Given the description of an element on the screen output the (x, y) to click on. 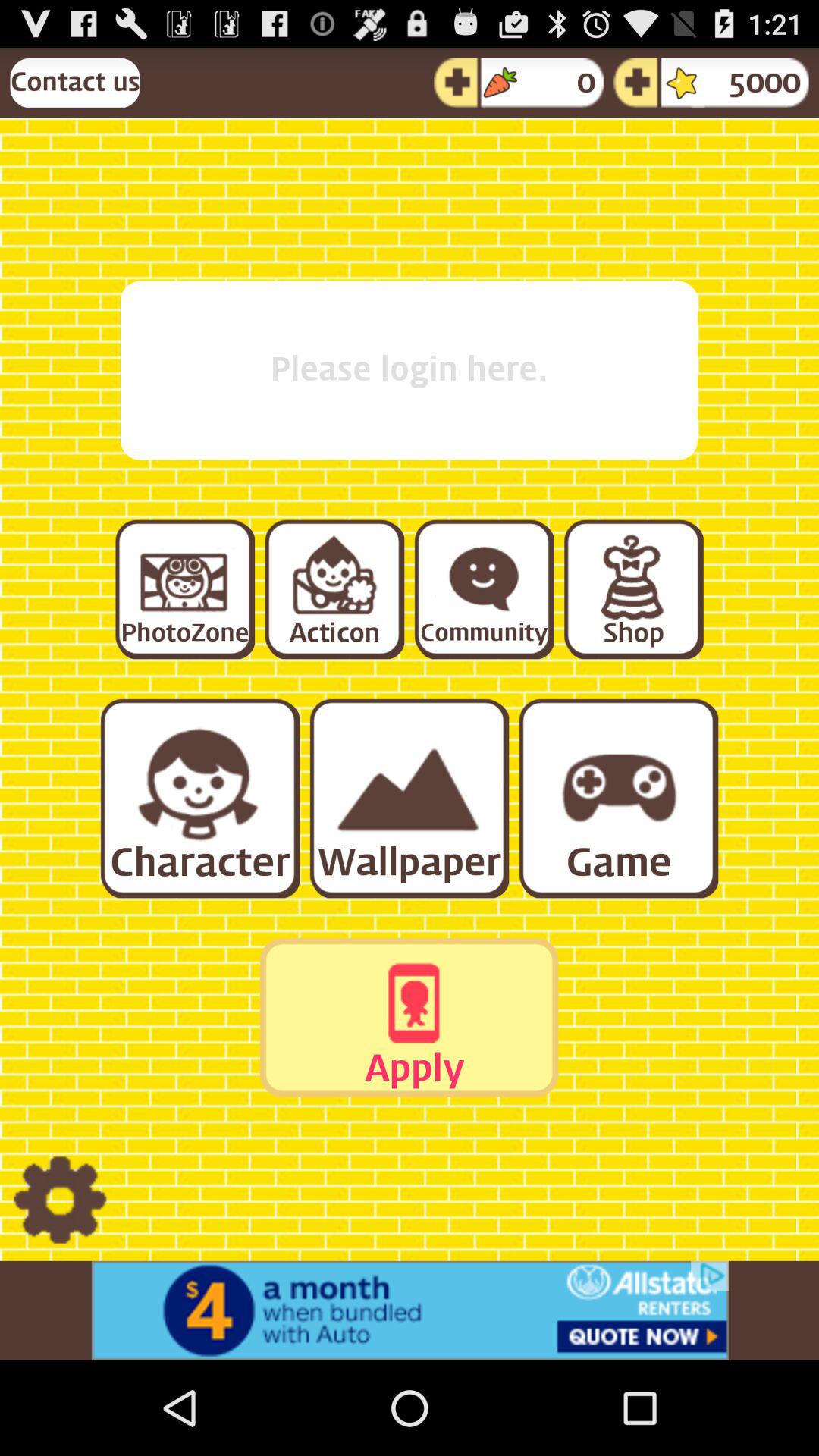
photozone (184, 588)
